Given the description of an element on the screen output the (x, y) to click on. 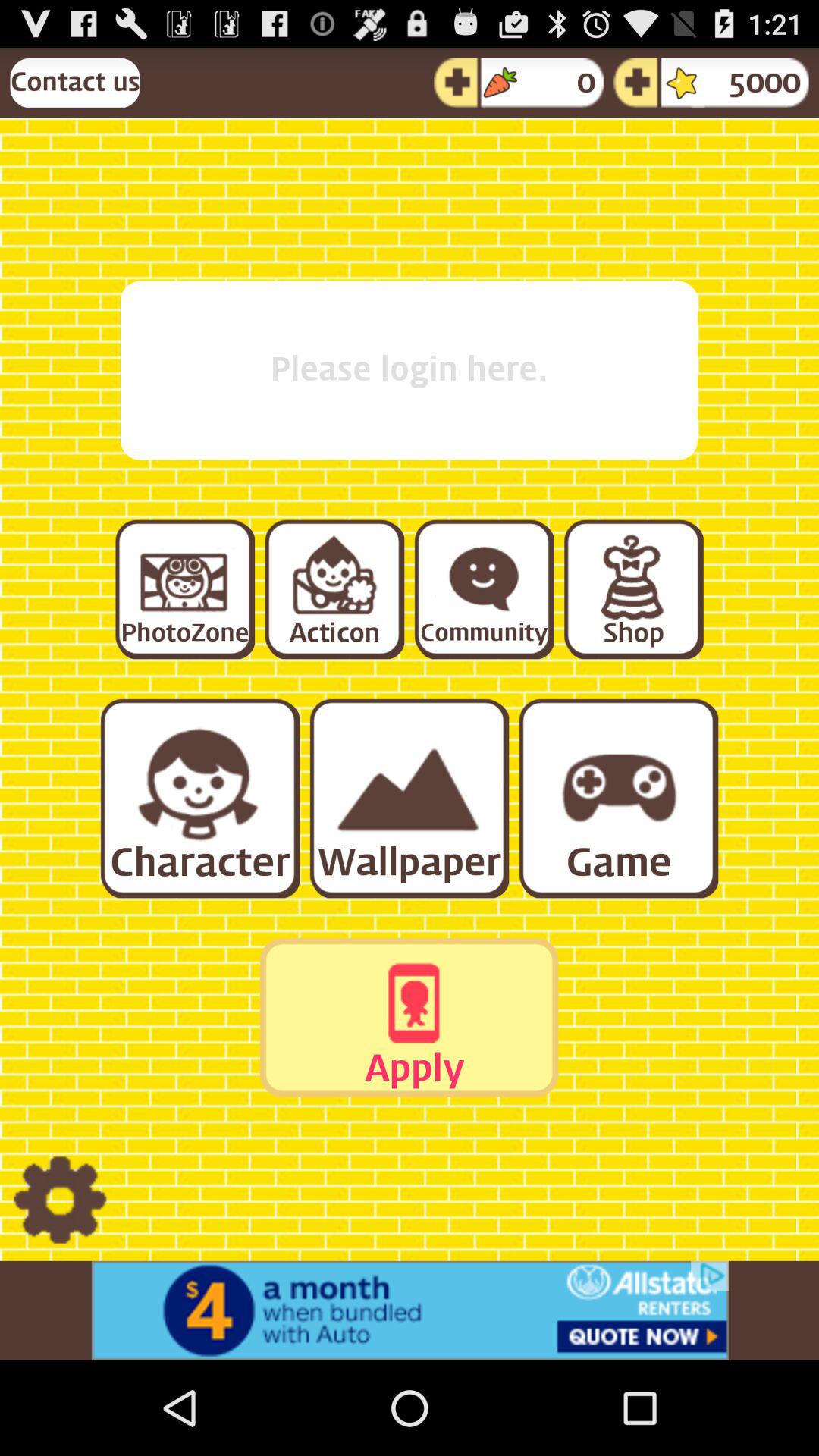
photozone (184, 588)
